Given the description of an element on the screen output the (x, y) to click on. 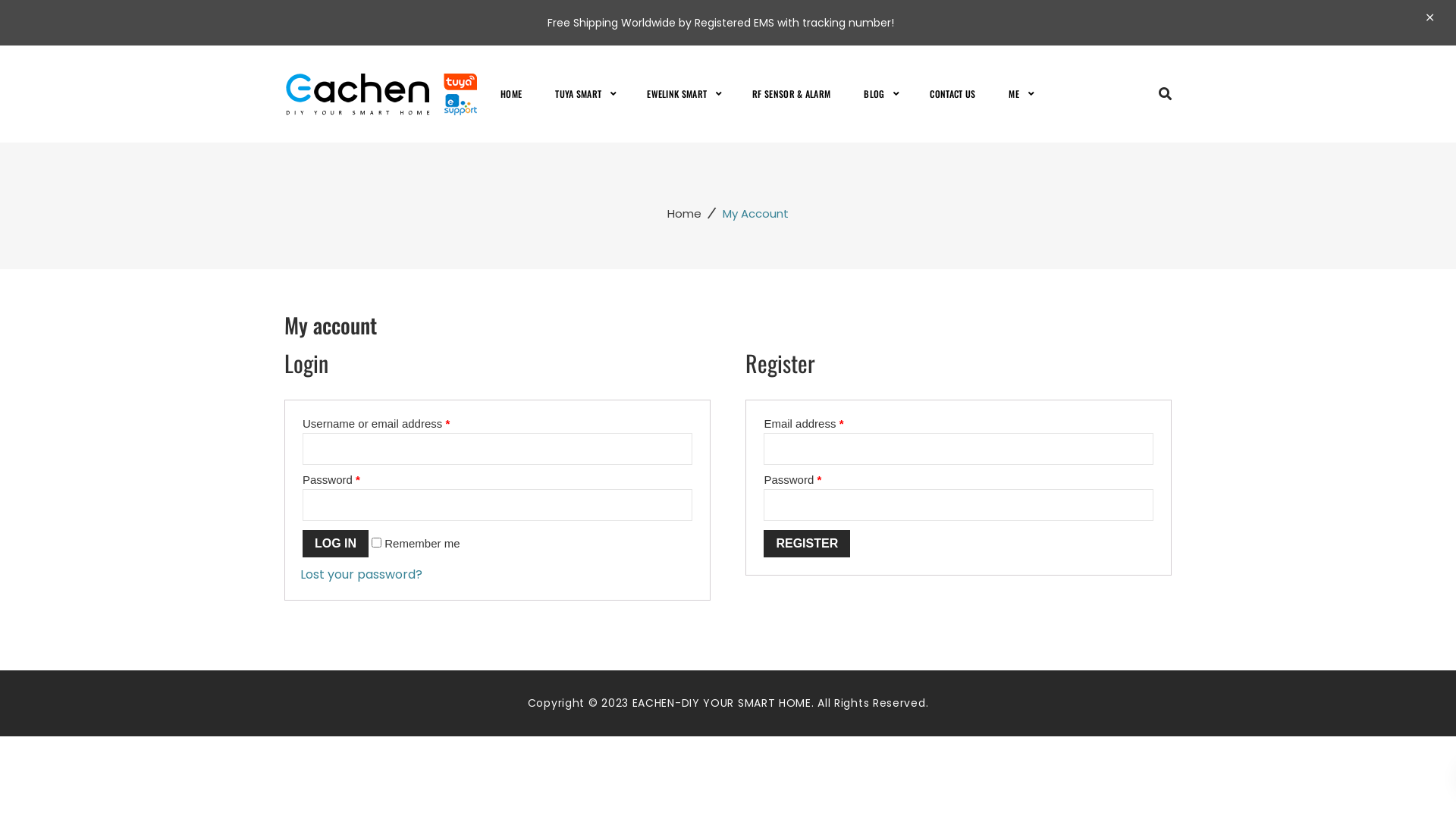
EACHEN-DIY YOUR SMART HOME Element type: hover (386, 92)
REGISTER Element type: text (806, 543)
HOME Element type: text (518, 93)
Lost your password? Element type: text (361, 574)
ME Element type: text (1013, 93)
RF SENSOR & ALARM Element type: text (791, 93)
EWELINK SMART Element type: text (676, 93)
BLOG Element type: text (873, 93)
LOG IN Element type: text (335, 543)
CONTACT US Element type: text (952, 93)
TUYA SMART Element type: text (577, 93)
Home Element type: text (684, 213)
